Given the description of an element on the screen output the (x, y) to click on. 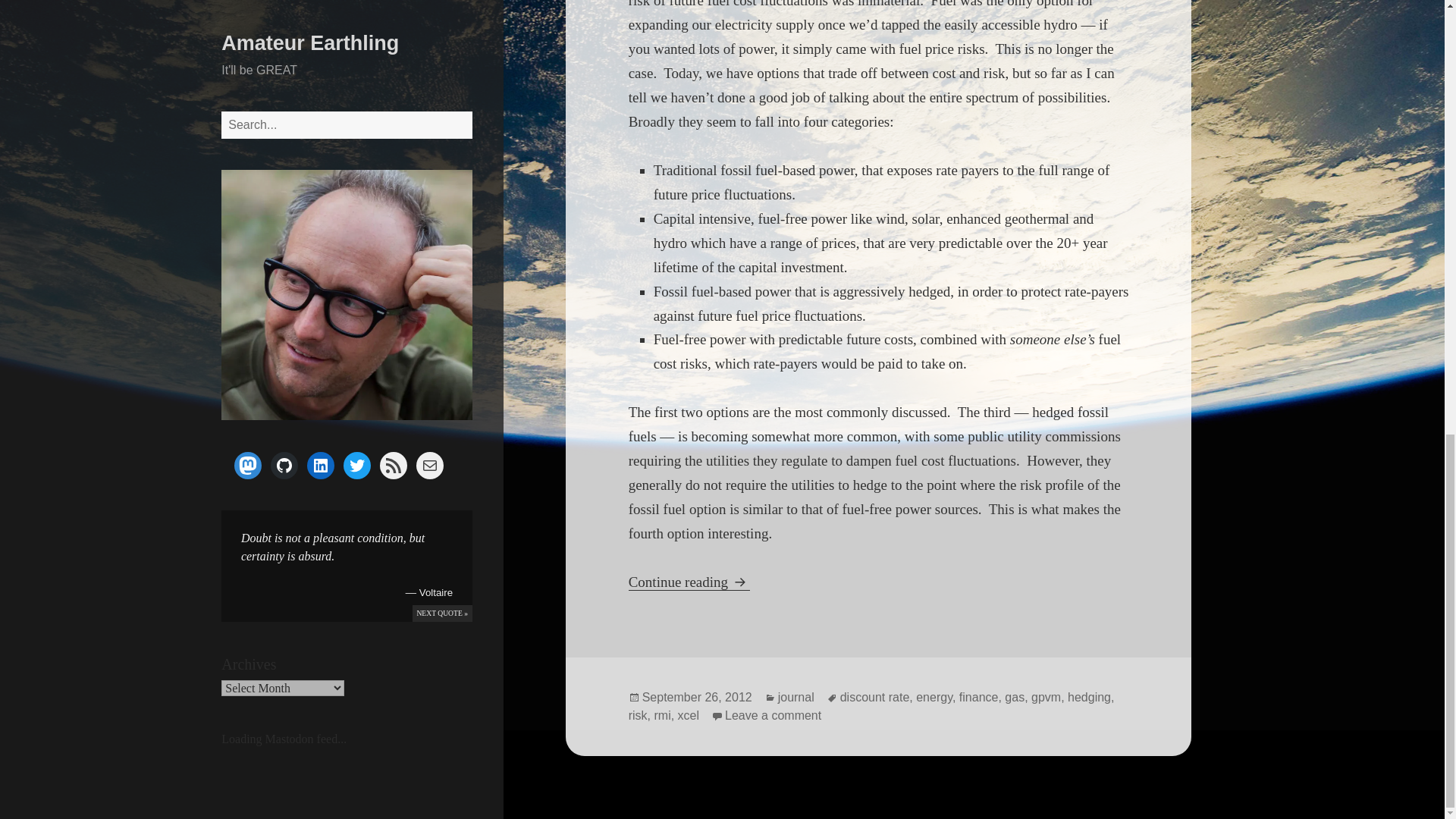
energy (933, 697)
finance (978, 697)
gas (1014, 697)
xcel (688, 715)
journal (795, 697)
hedging (1088, 697)
discount rate (875, 697)
rmi (661, 715)
risk (637, 715)
September 26, 2012 (697, 697)
gpvm (1045, 697)
